Given the description of an element on the screen output the (x, y) to click on. 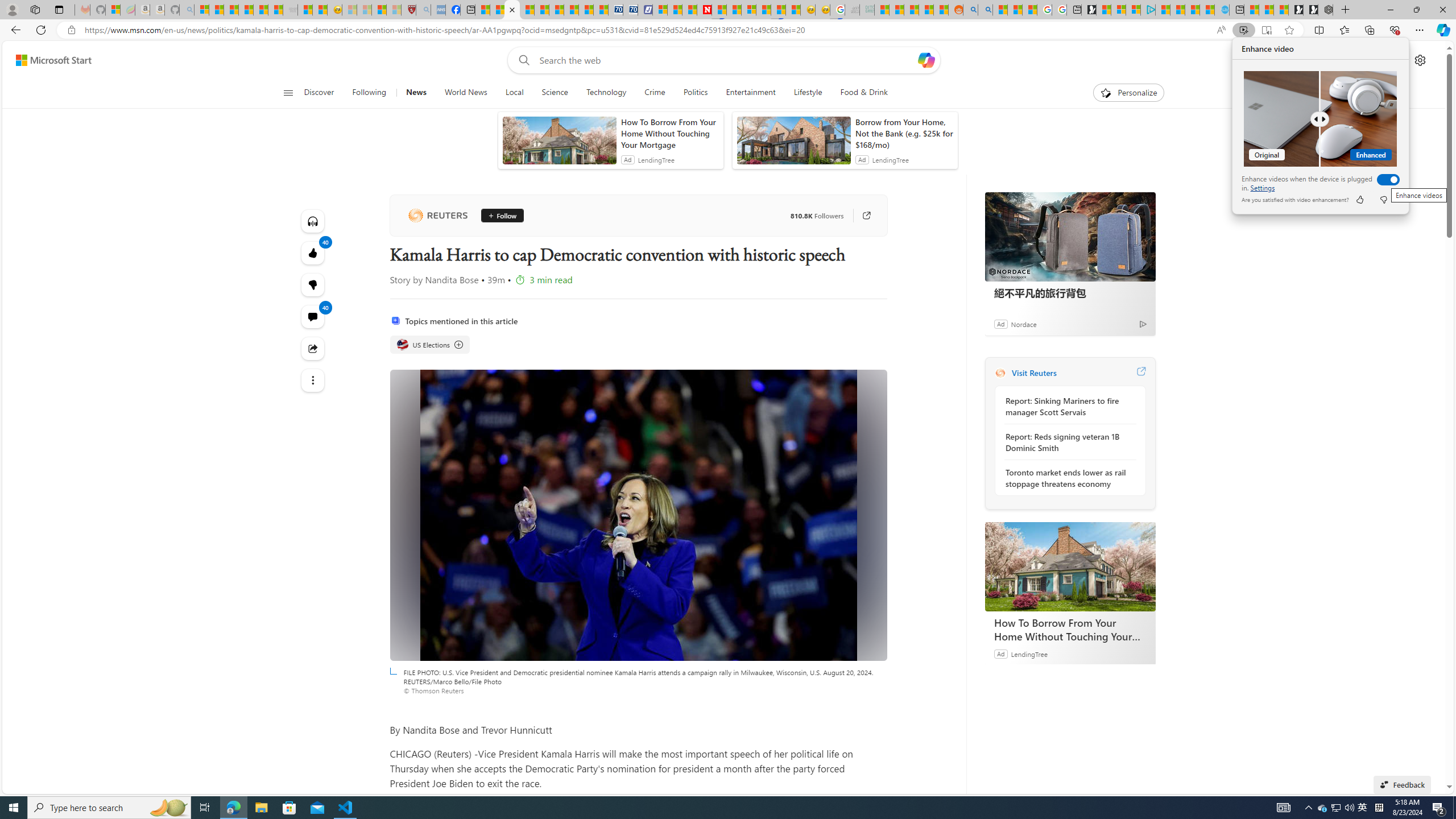
Back (13, 29)
Trusted Community Engagement and Contributions | Guidelines (718, 9)
Search highlights icon opens search home window (167, 807)
Minimize (1390, 9)
Toronto market ends lower as rail stoppage threatens economy (1066, 477)
Science (554, 92)
like (1359, 199)
Crime (654, 92)
Notification Chevron (1308, 807)
MSNBC - MSN (881, 9)
US Elections US Elections US Elections (430, 344)
Stocks - MSN (275, 9)
